Given the description of an element on the screen output the (x, y) to click on. 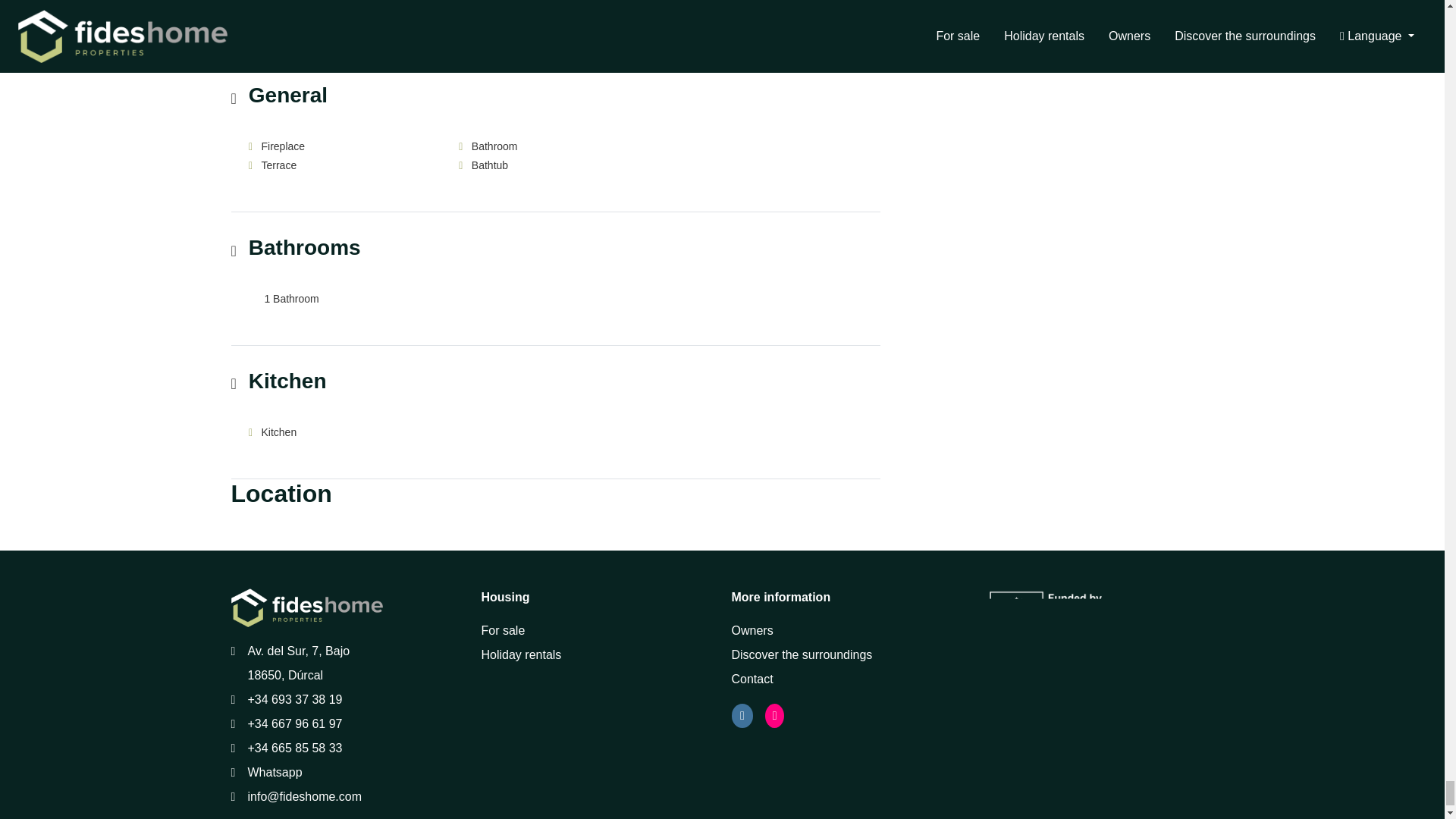
Holiday rentals (520, 654)
Discover the surroundings (801, 654)
Contact (751, 678)
Whatsapp (274, 771)
For sale (502, 630)
Funded by the European Union (1068, 609)
Owners (751, 630)
